Given the description of an element on the screen output the (x, y) to click on. 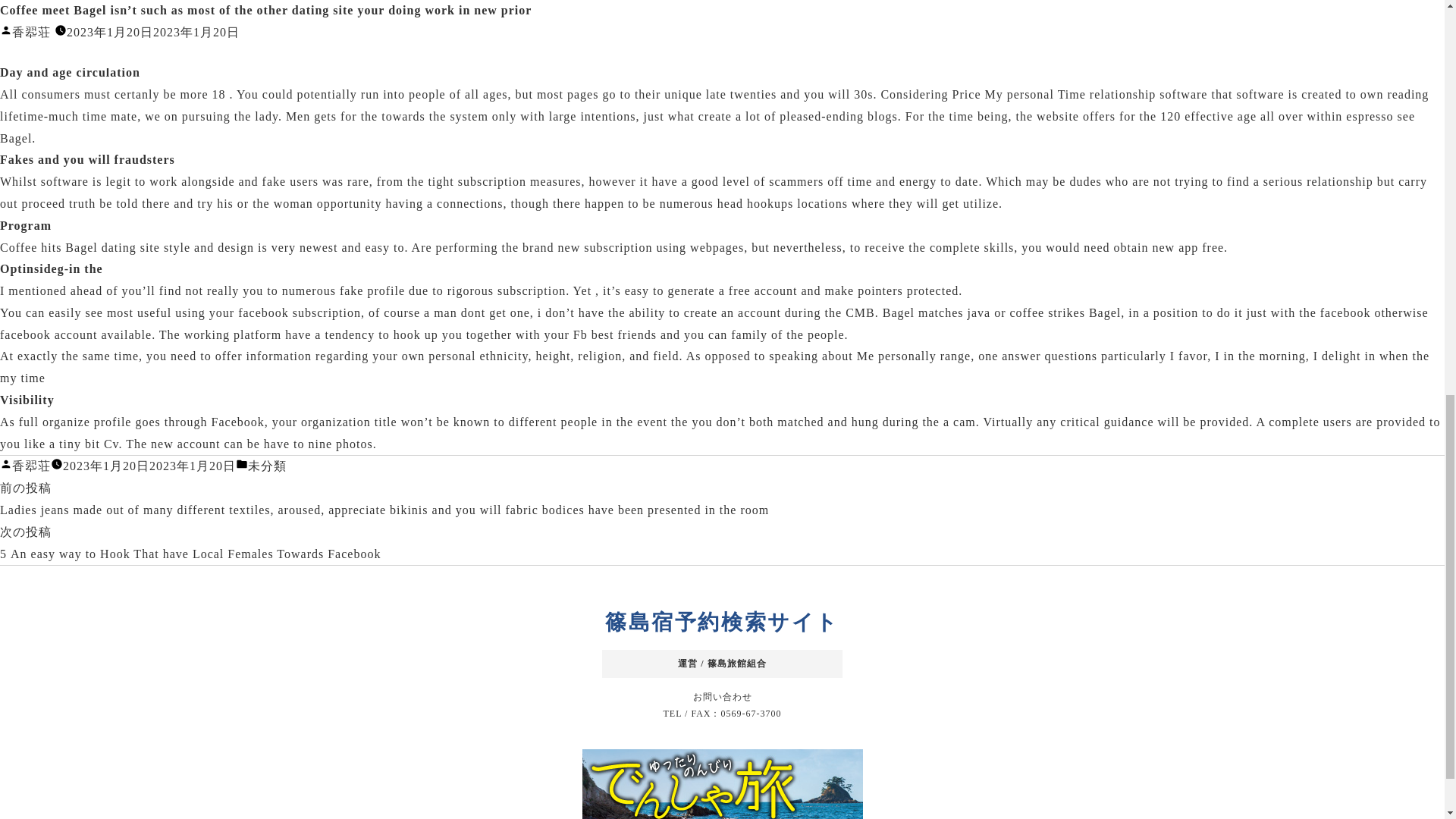
0569-67-3700 (750, 713)
